Given the description of an element on the screen output the (x, y) to click on. 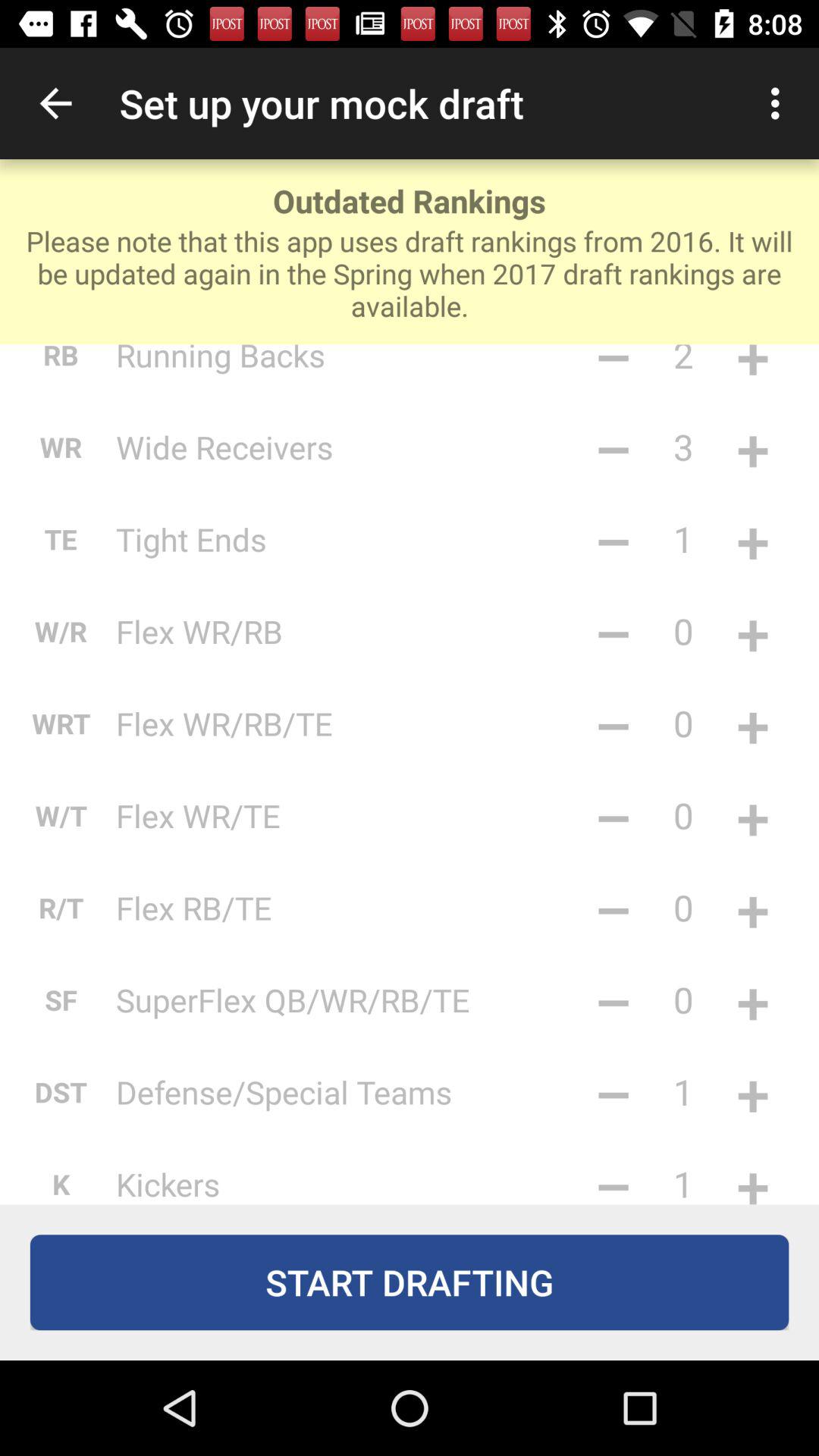
turn on the icon to the left of the kickers item (61, 1179)
